Given the description of an element on the screen output the (x, y) to click on. 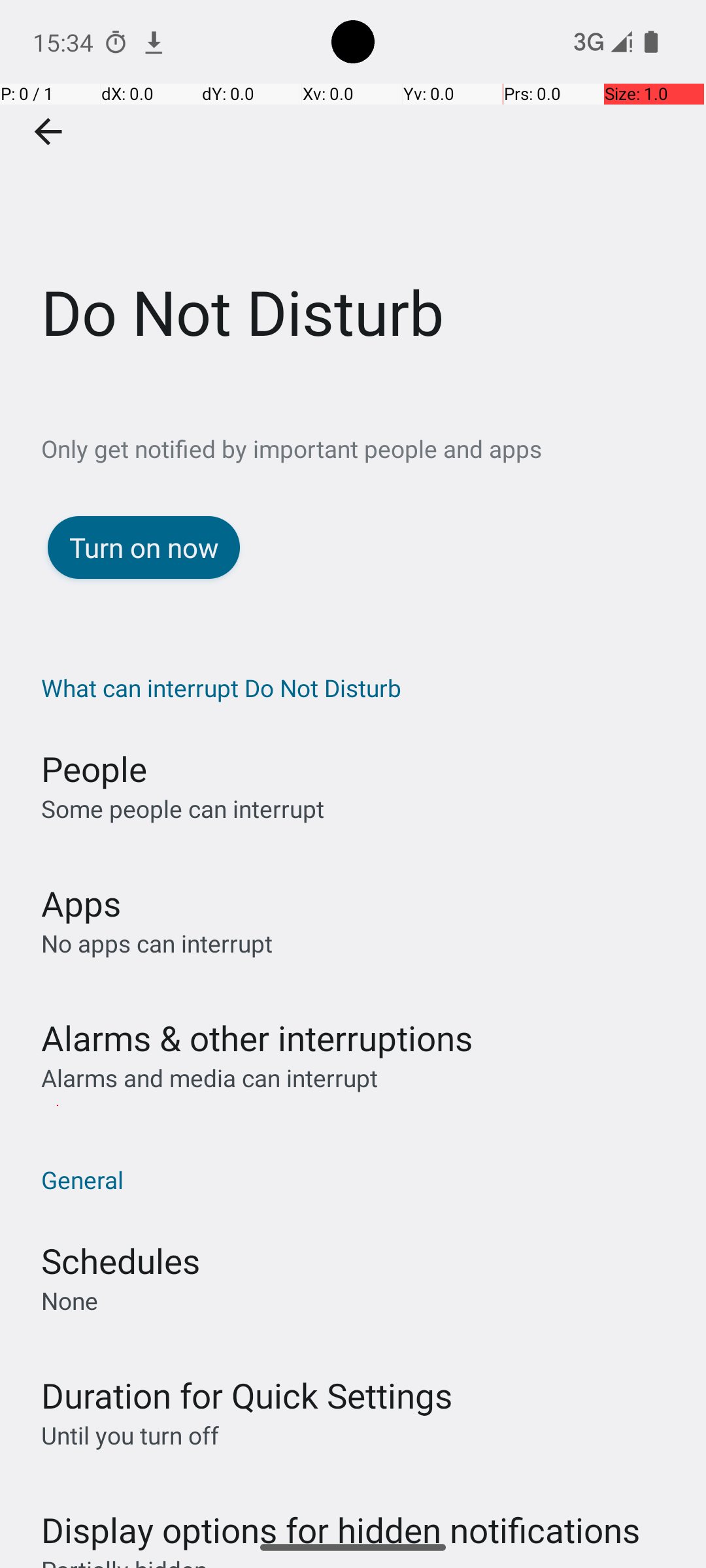
Only get notified by important people and apps Element type: android.widget.TextView (373, 448)
What can interrupt Do Not Disturb Element type: android.widget.TextView (359, 687)
People Element type: android.widget.TextView (94, 768)
Some people can interrupt Element type: android.widget.TextView (182, 808)
No apps can interrupt Element type: android.widget.TextView (156, 942)
Alarms & other interruptions Element type: android.widget.TextView (256, 1037)
Alarms and media can interrupt Element type: android.widget.TextView (209, 1077)
Duration for Quick Settings Element type: android.widget.TextView (246, 1395)
